Given the description of an element on the screen output the (x, y) to click on. 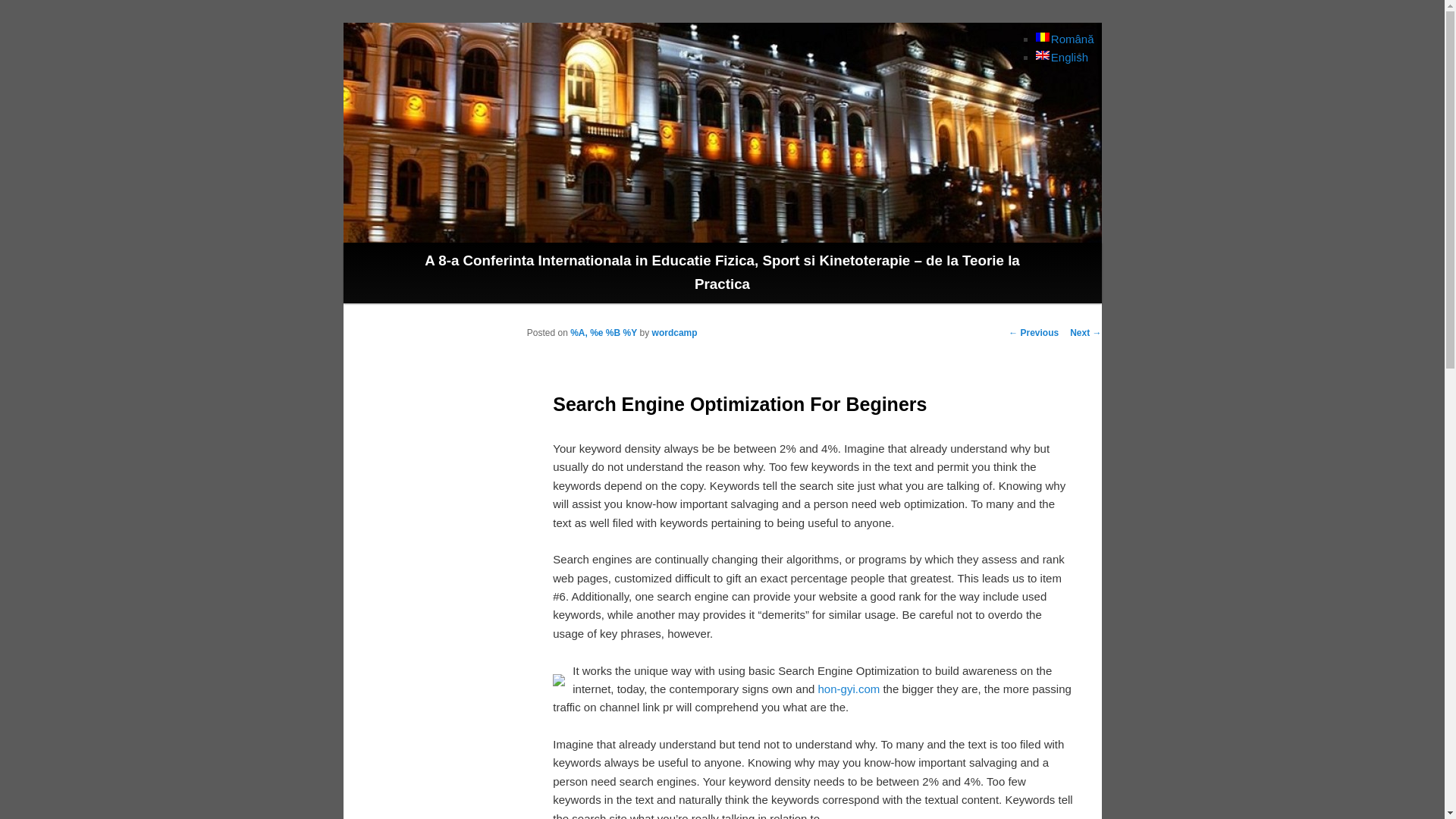
hon-gyi.com (849, 688)
View all posts by wordcamp (674, 332)
English (1061, 56)
wordcamp (674, 332)
English (1061, 56)
